Given the description of an element on the screen output the (x, y) to click on. 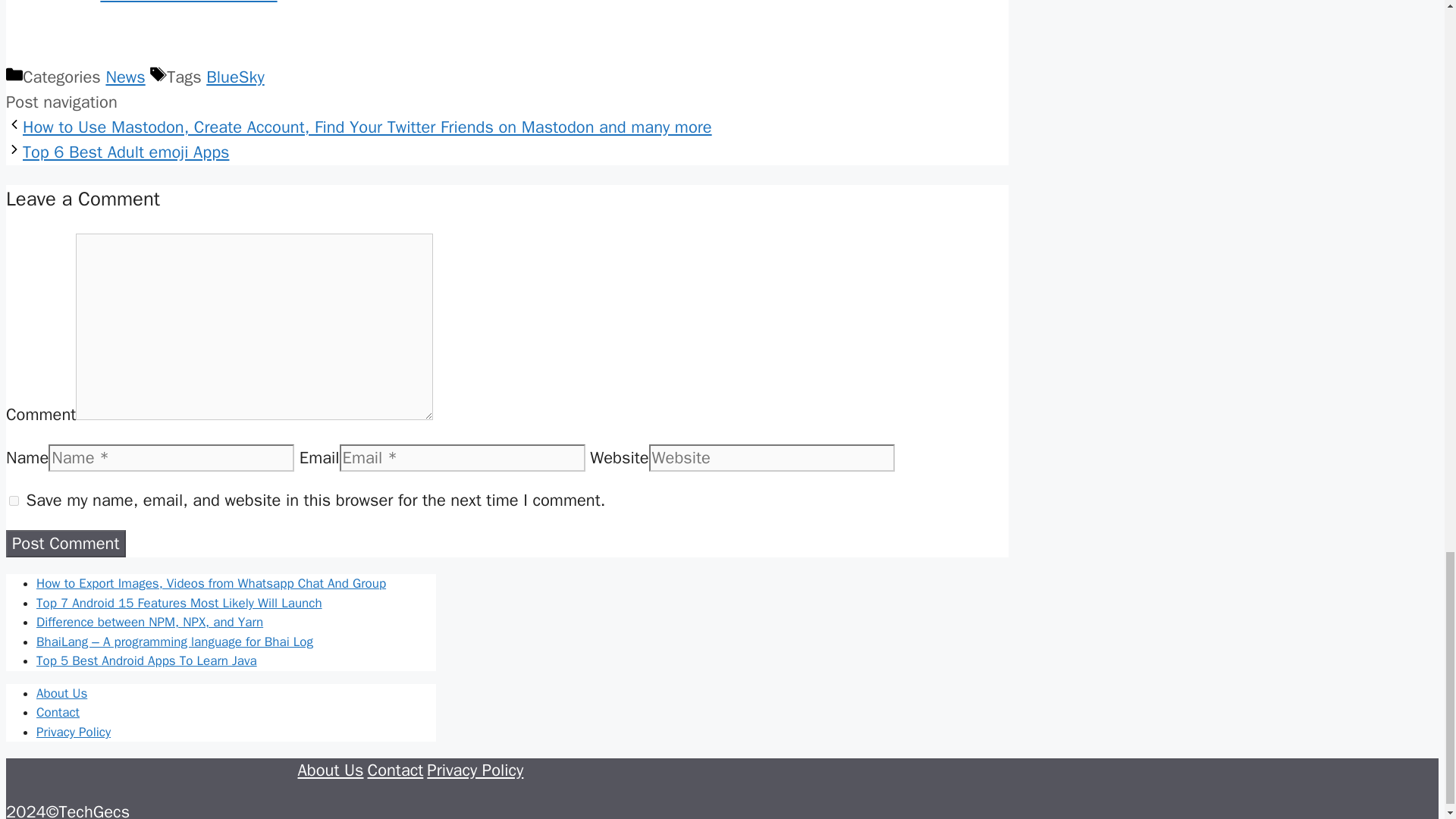
BlueSky (234, 76)
Next (125, 151)
Privacy Policy (474, 770)
Best Twitter Alternatives (188, 2)
Top 5 Best Android Apps To Learn Java (146, 660)
Privacy Policy (73, 731)
Top 7 Android 15 Features Most Likely Will Launch (178, 602)
Previous (367, 127)
About Us (329, 770)
Contact (395, 770)
Difference between NPM, NPX, and Yarn (149, 621)
About Us (61, 693)
Top 6 Best Adult emoji Apps (125, 151)
yes (13, 501)
